Given the description of an element on the screen output the (x, y) to click on. 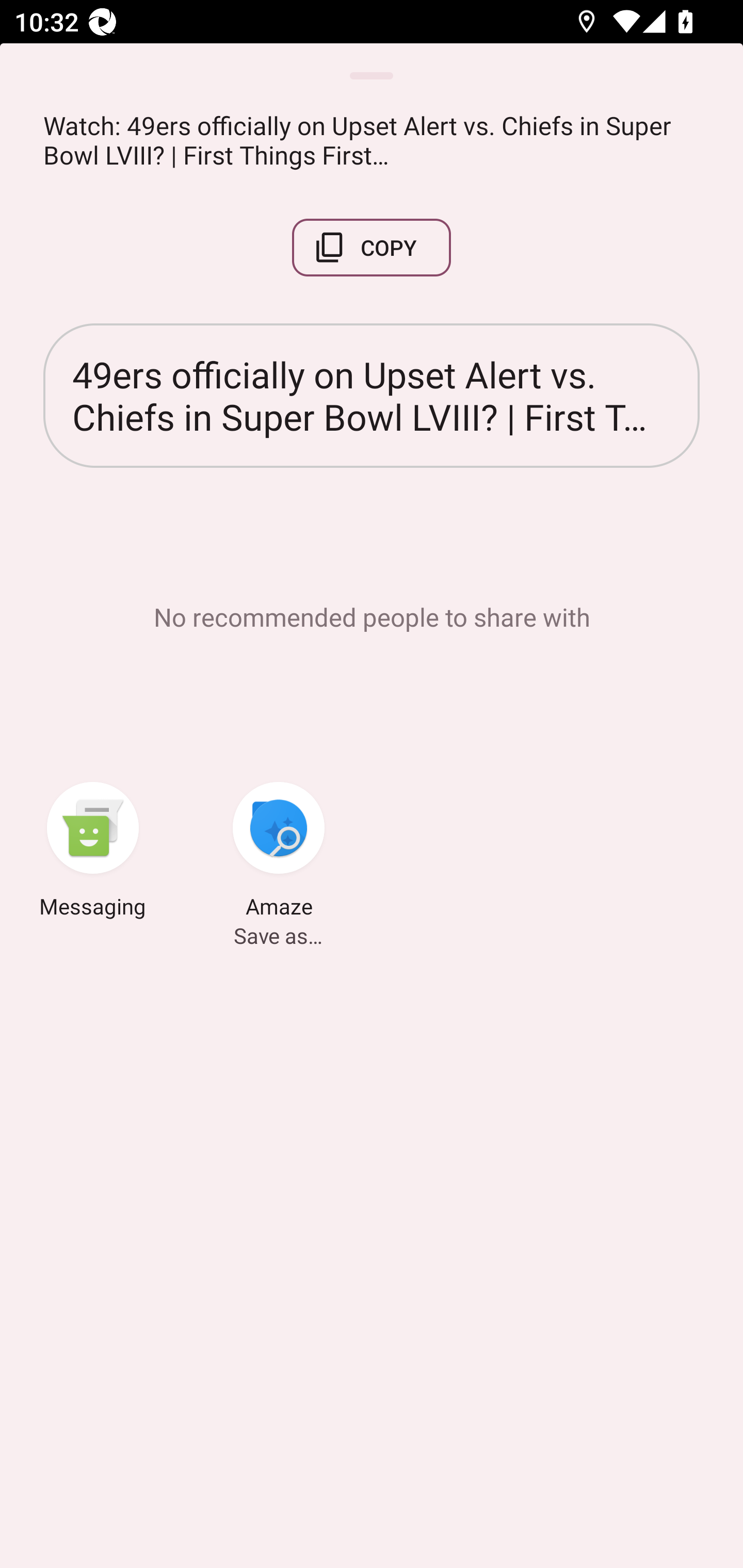
COPY (371, 247)
Messaging (92, 852)
Amaze Save as… (278, 852)
